Given the description of an element on the screen output the (x, y) to click on. 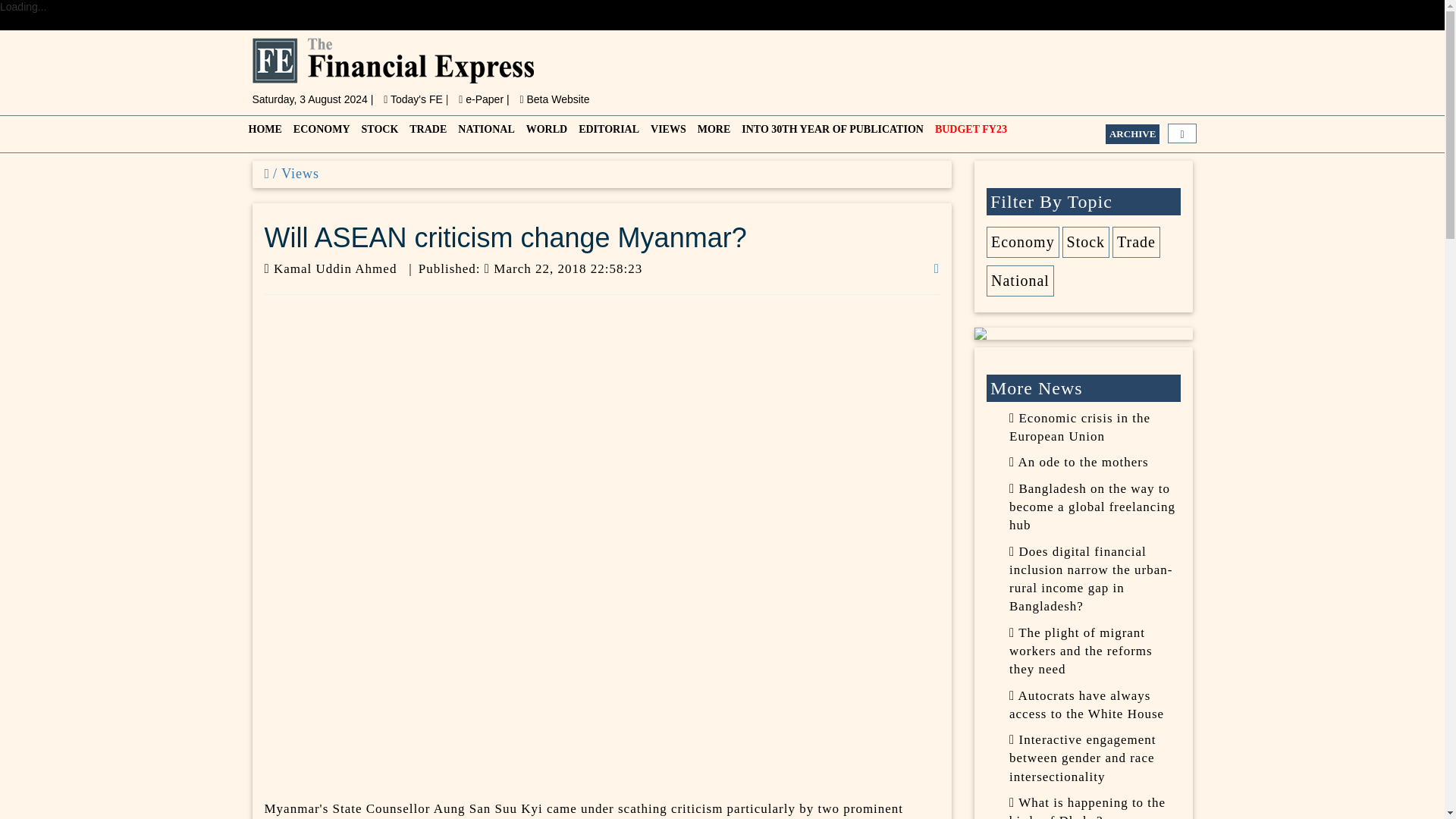
EDITORIAL (606, 134)
ECONOMY (319, 134)
NATIONAL (483, 134)
Beta Website (554, 99)
MORE (712, 134)
WORLD (544, 134)
STOCK (378, 134)
ARCHIVE (1131, 134)
VIEWS (666, 134)
Today's FE (414, 99)
